Given the description of an element on the screen output the (x, y) to click on. 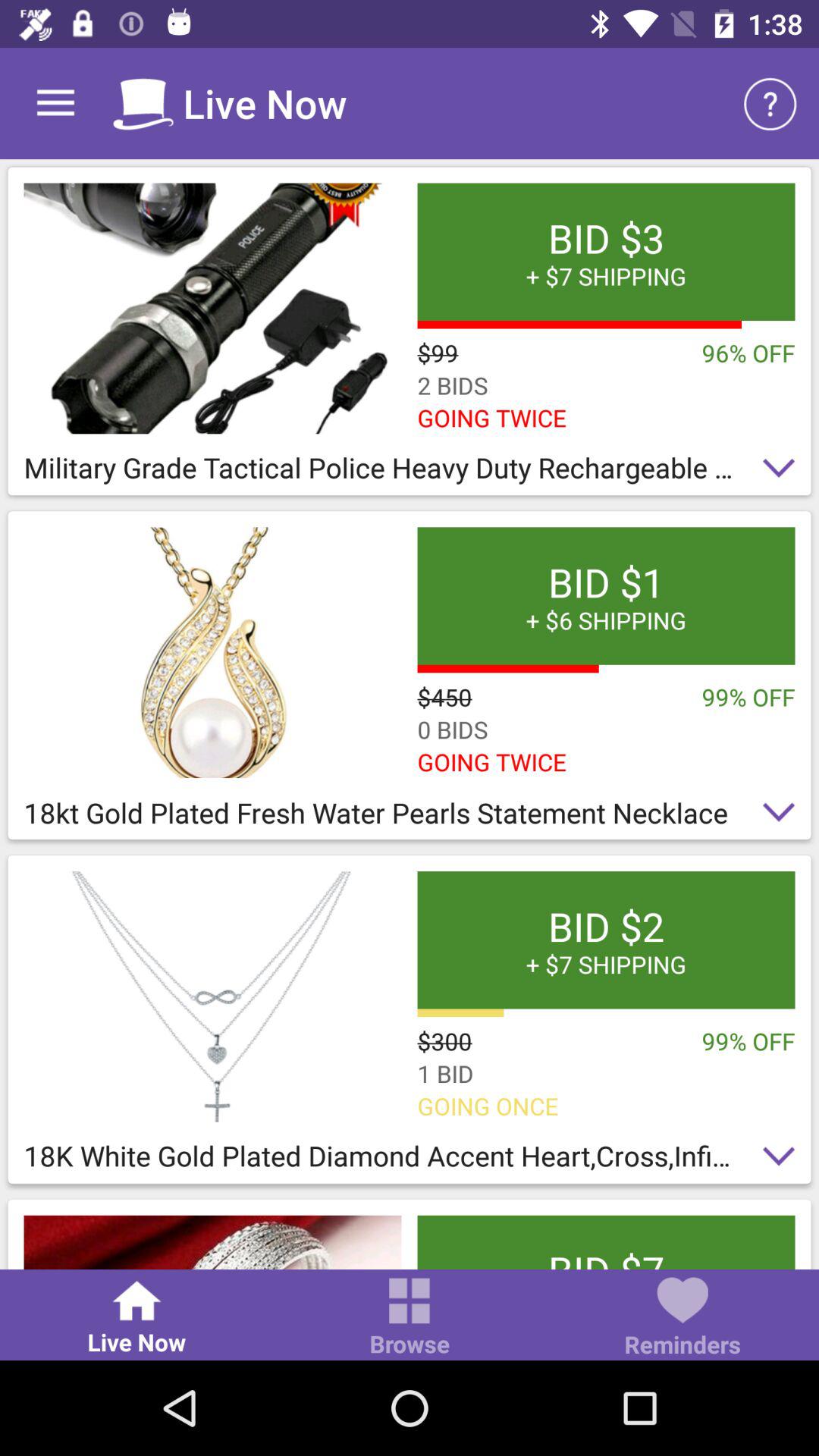
open item above the bid 3 7 item (771, 103)
